Given the description of an element on the screen output the (x, y) to click on. 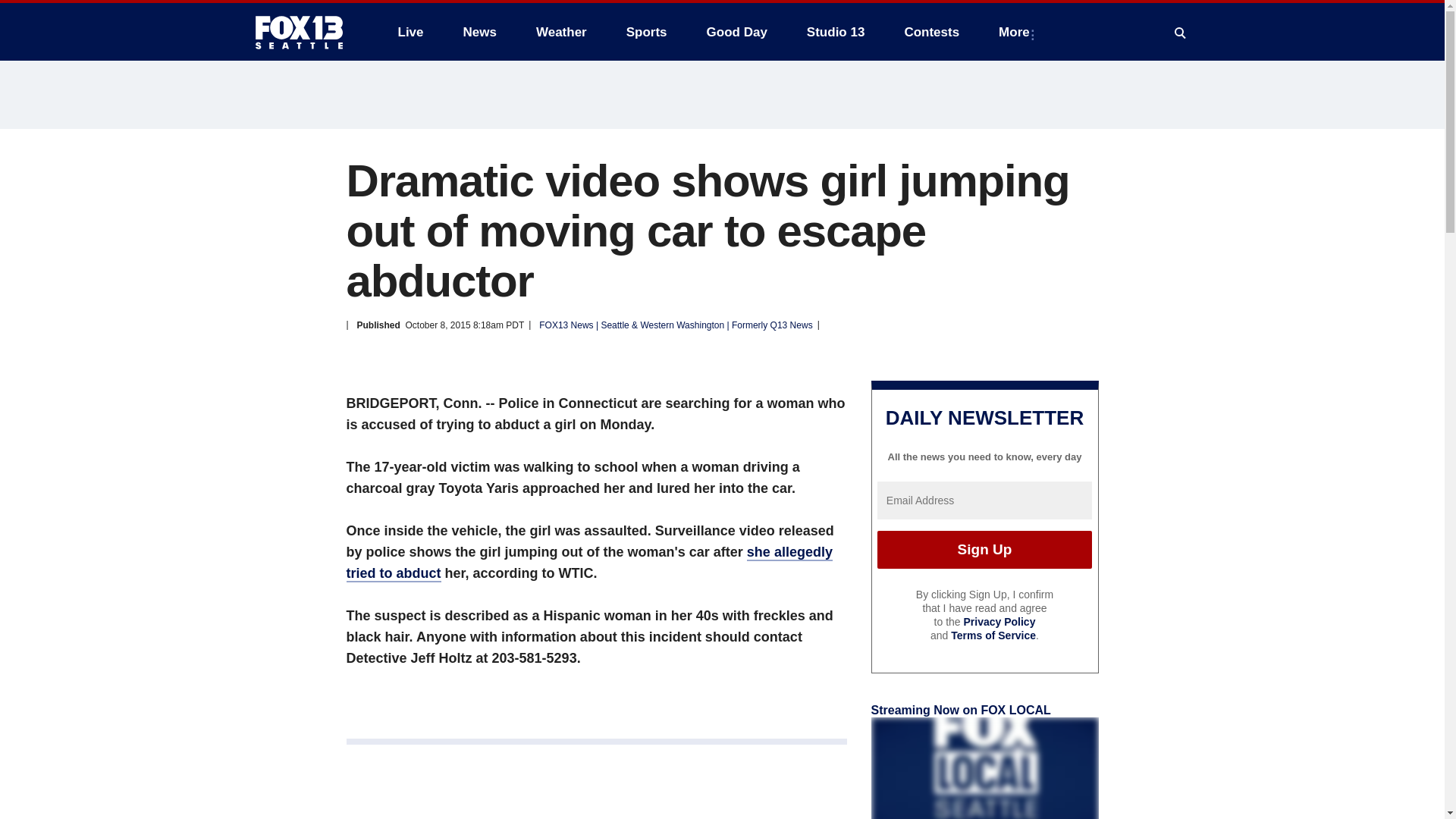
More (1017, 32)
Sports (646, 32)
Good Day (736, 32)
Weather (561, 32)
Contests (931, 32)
Live (410, 32)
Sign Up (984, 549)
News (479, 32)
Studio 13 (835, 32)
